Given the description of an element on the screen output the (x, y) to click on. 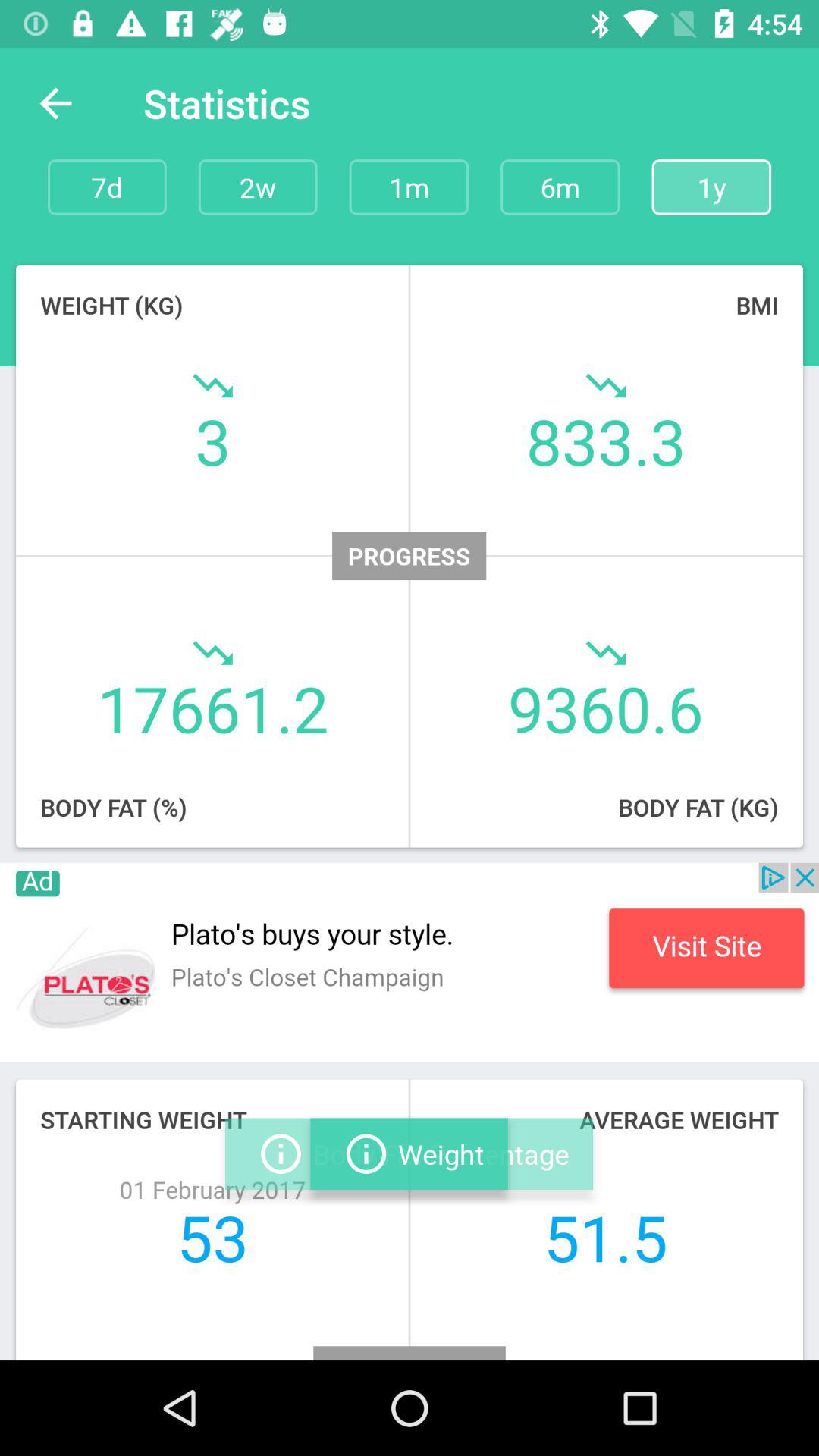
open the advertisement (409, 961)
